Given the description of an element on the screen output the (x, y) to click on. 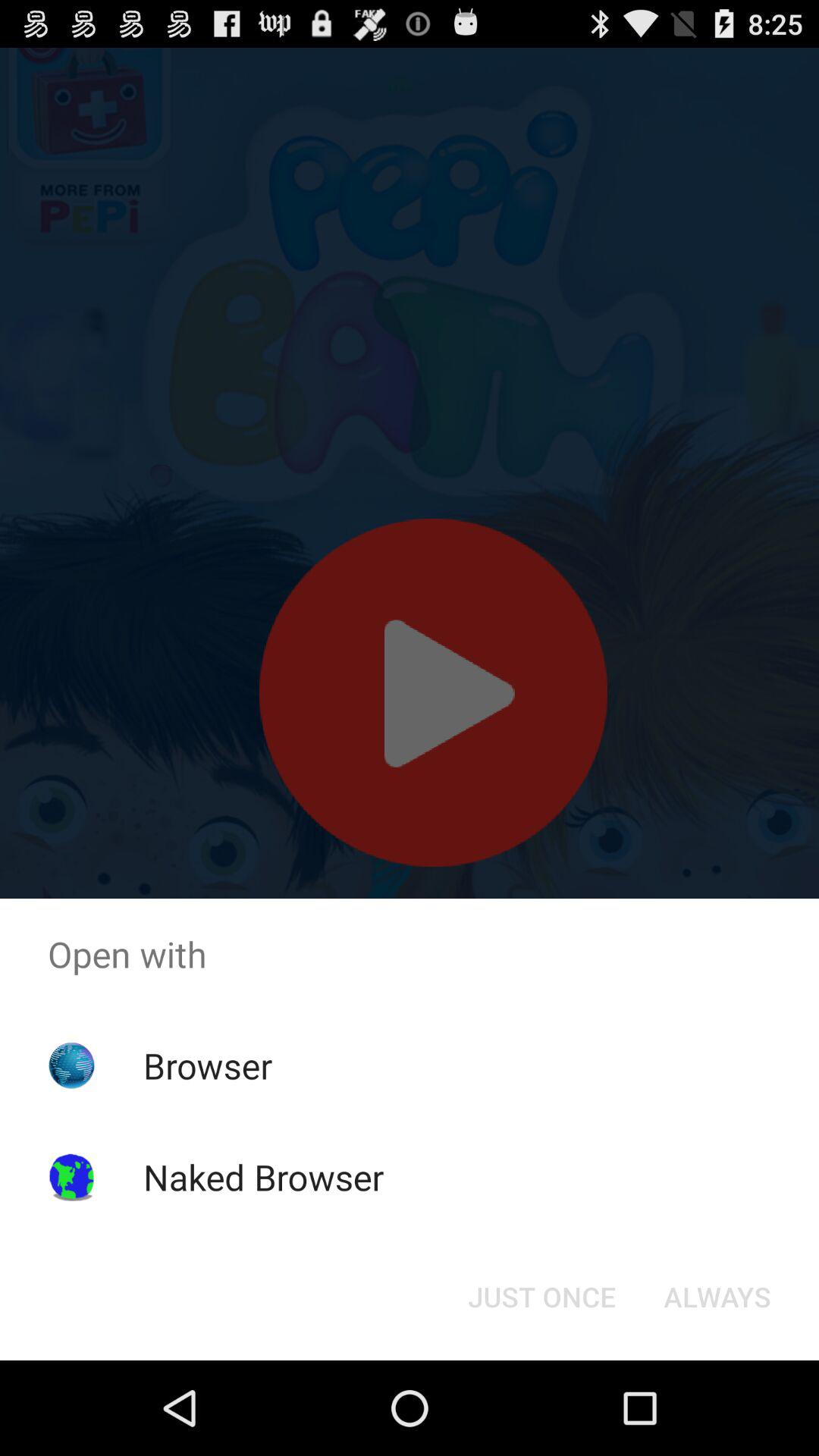
turn off the always button (717, 1296)
